Given the description of an element on the screen output the (x, y) to click on. 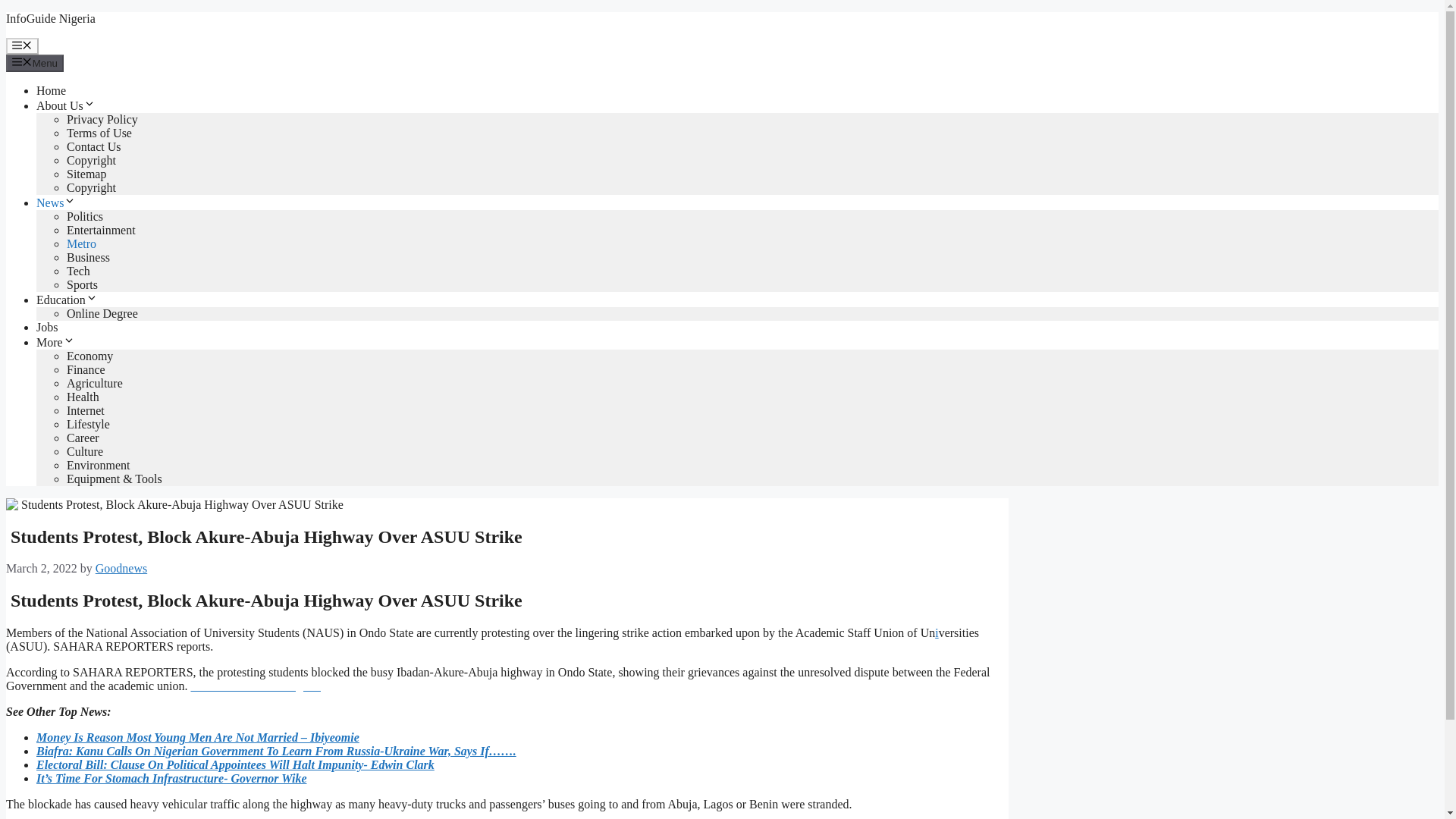
More (55, 341)
News (55, 202)
Tech (78, 270)
Culture (84, 451)
Copyright (91, 160)
Environment (98, 464)
Menu (22, 45)
Online Degree (102, 313)
Copyright (91, 187)
